Given the description of an element on the screen output the (x, y) to click on. 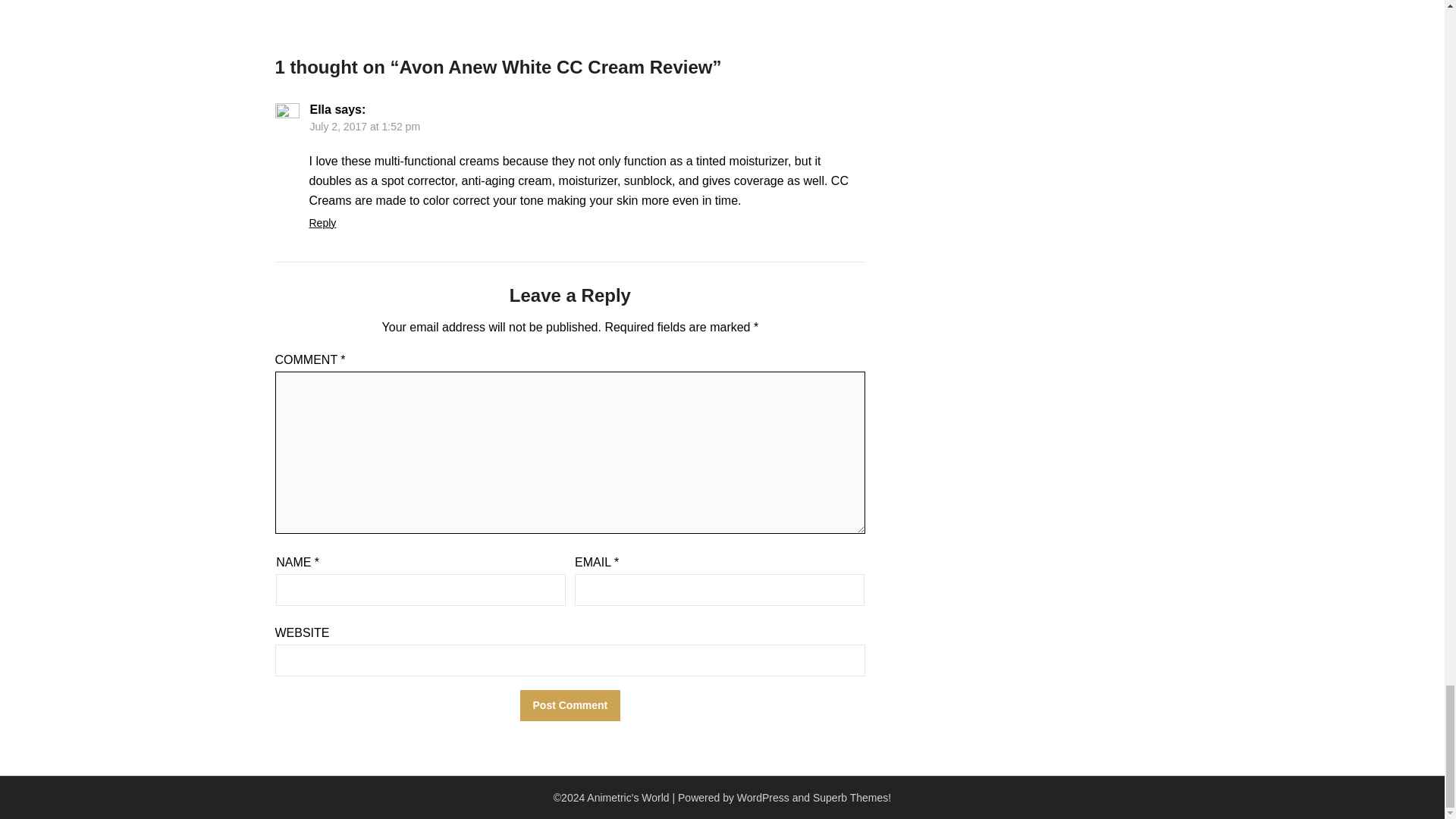
Post Comment (570, 705)
July 2, 2017 at 1:52 pm (364, 126)
Reply (322, 223)
Post Comment (570, 705)
Superb Themes! (851, 797)
